Given the description of an element on the screen output the (x, y) to click on. 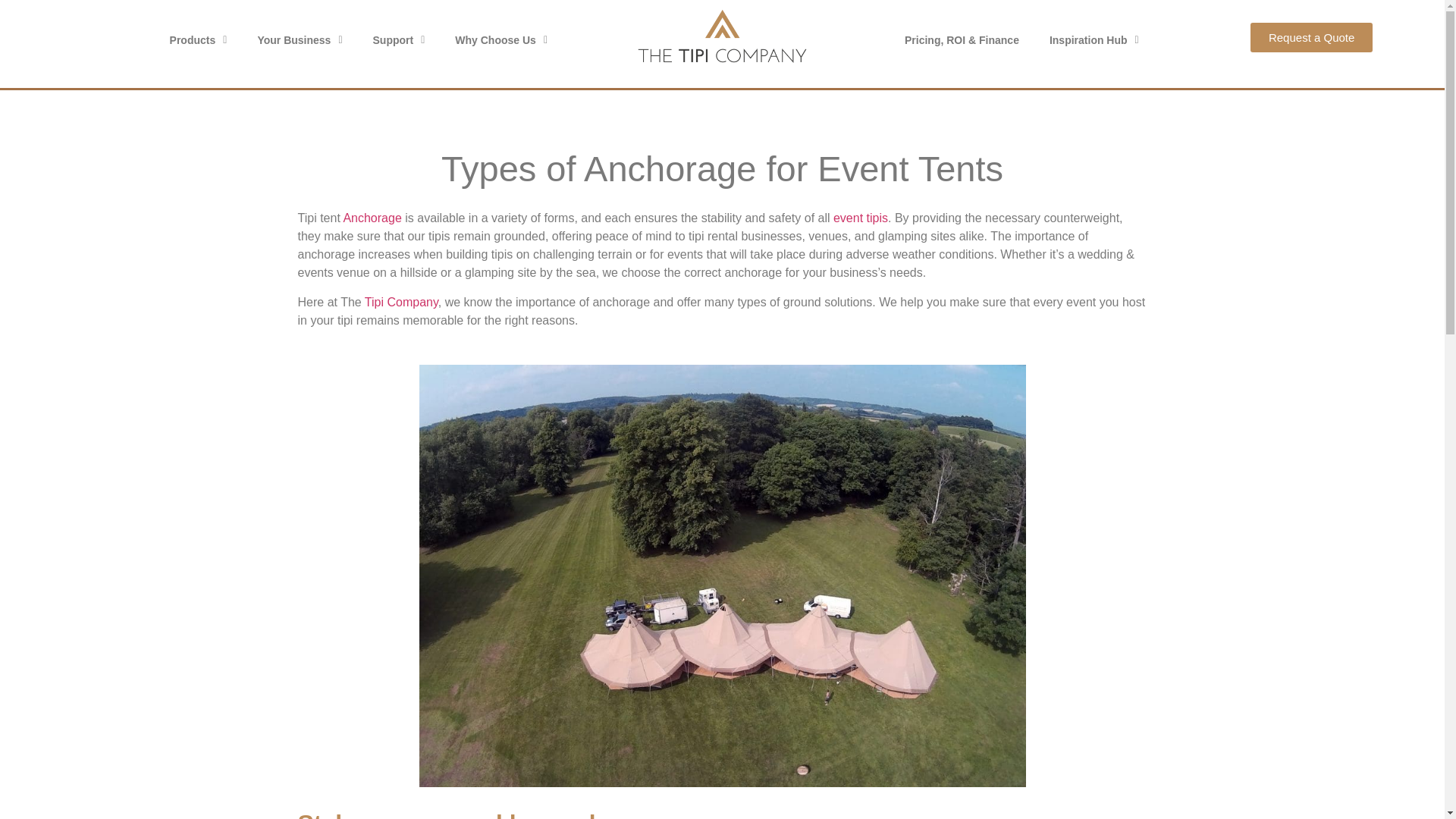
Why Choose Us (500, 39)
Support (399, 39)
Your Business (298, 39)
Products (198, 39)
Tipi Company (401, 301)
